Given the description of an element on the screen output the (x, y) to click on. 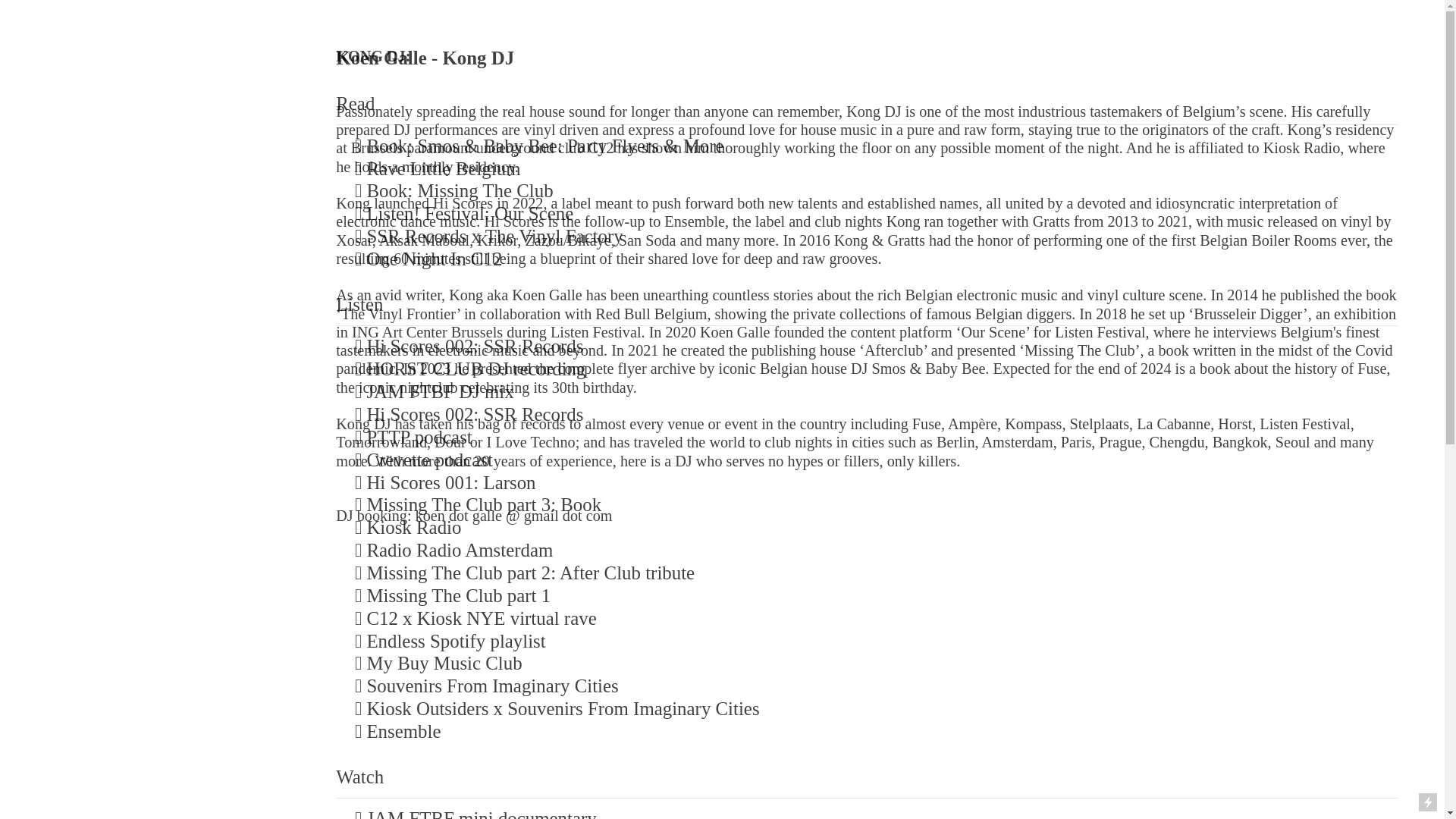
Read (355, 103)
Listen (359, 304)
Radio Amsterdam (482, 549)
Watch (360, 776)
Koen Galle - Kong DJ (424, 57)
